Given the description of an element on the screen output the (x, y) to click on. 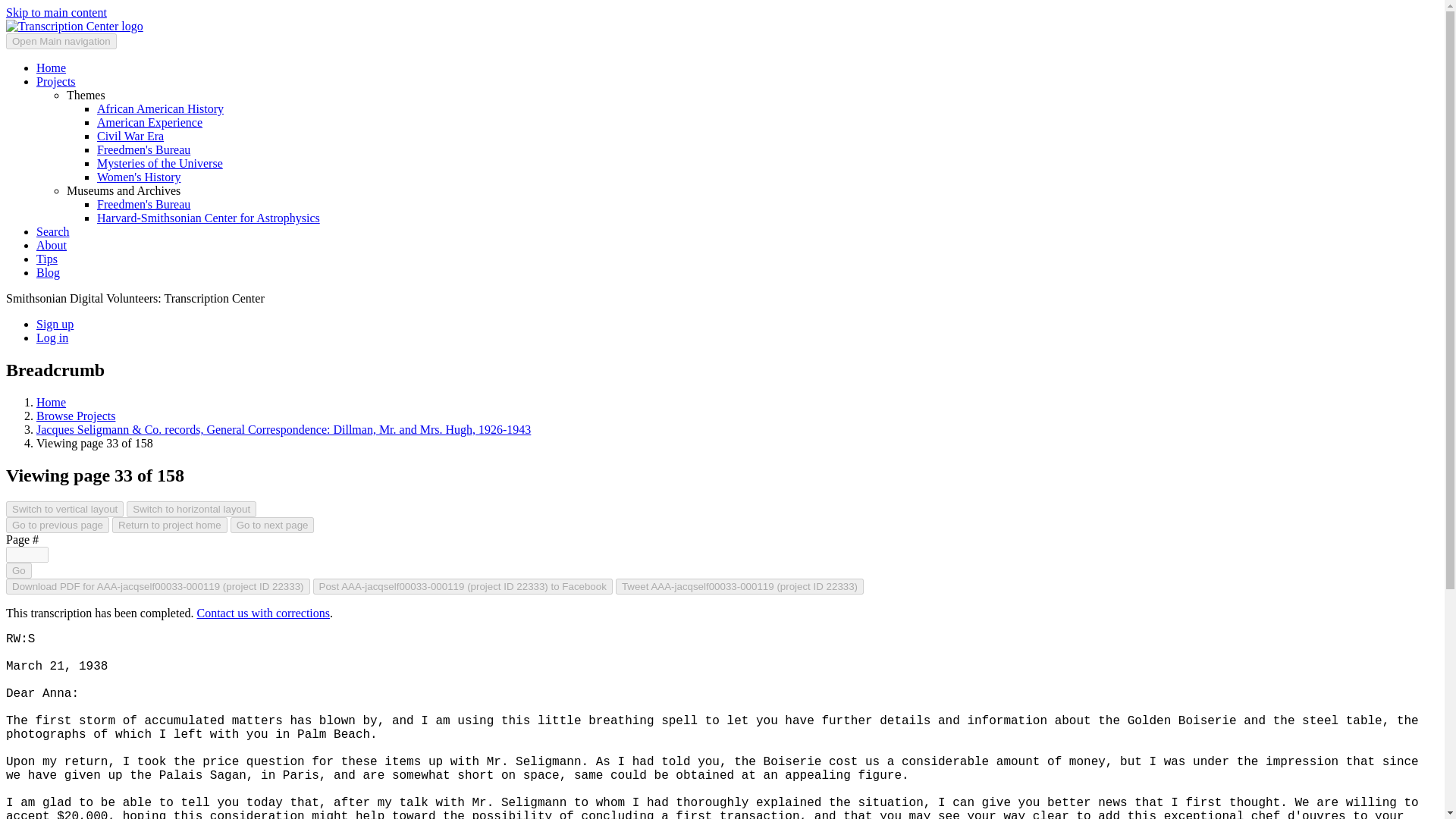
Return to project home (169, 524)
Search (52, 231)
Freedmen's Bureau (143, 149)
Switch to horizontal layout (191, 508)
Home (50, 67)
African American History (160, 108)
Home (50, 401)
Blog (47, 272)
Sign up (55, 323)
Projects (55, 81)
